Given the description of an element on the screen output the (x, y) to click on. 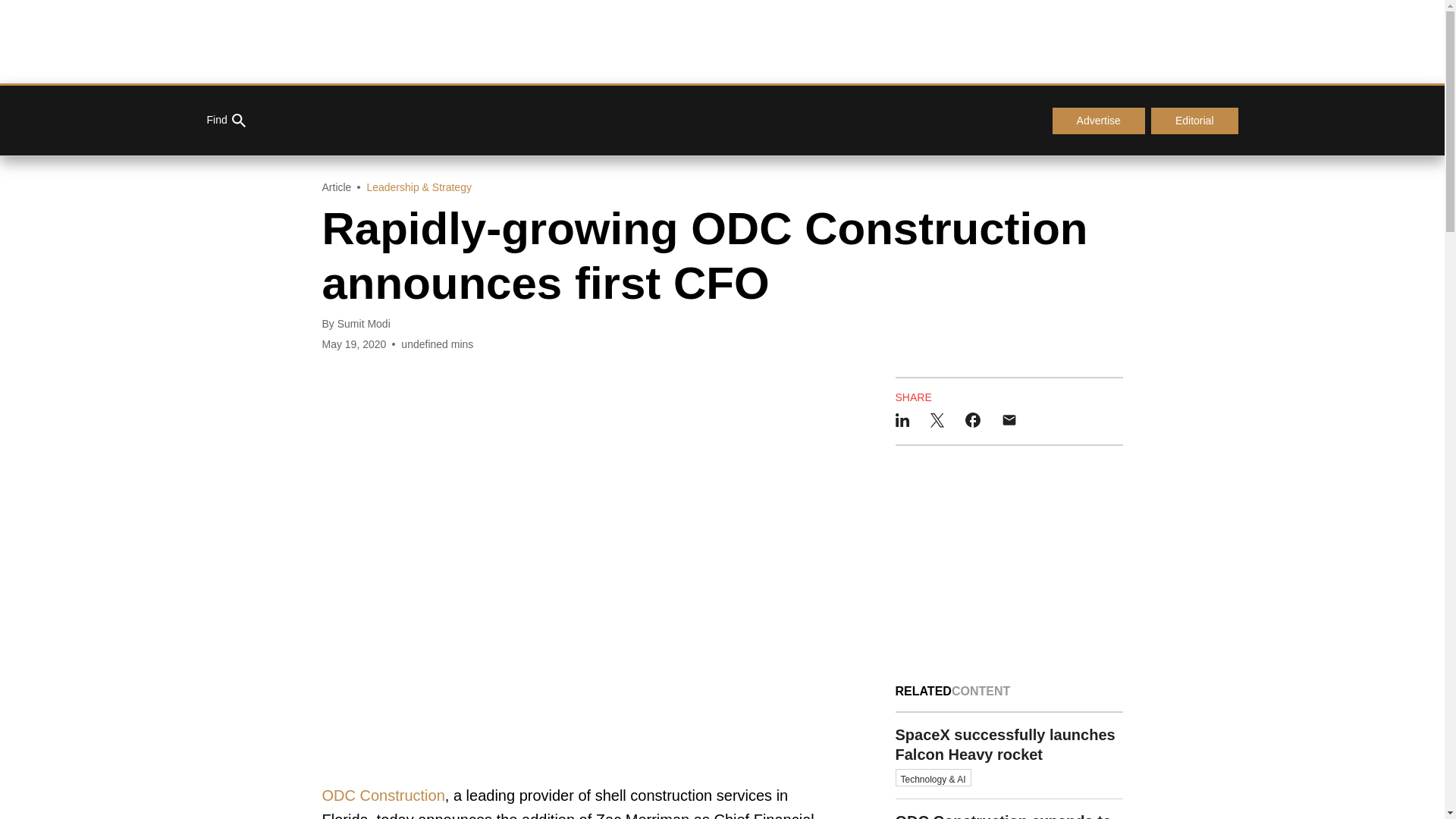
Editorial (1195, 121)
Advertise (1098, 121)
ODC Construction (382, 795)
Find (225, 120)
